Given the description of an element on the screen output the (x, y) to click on. 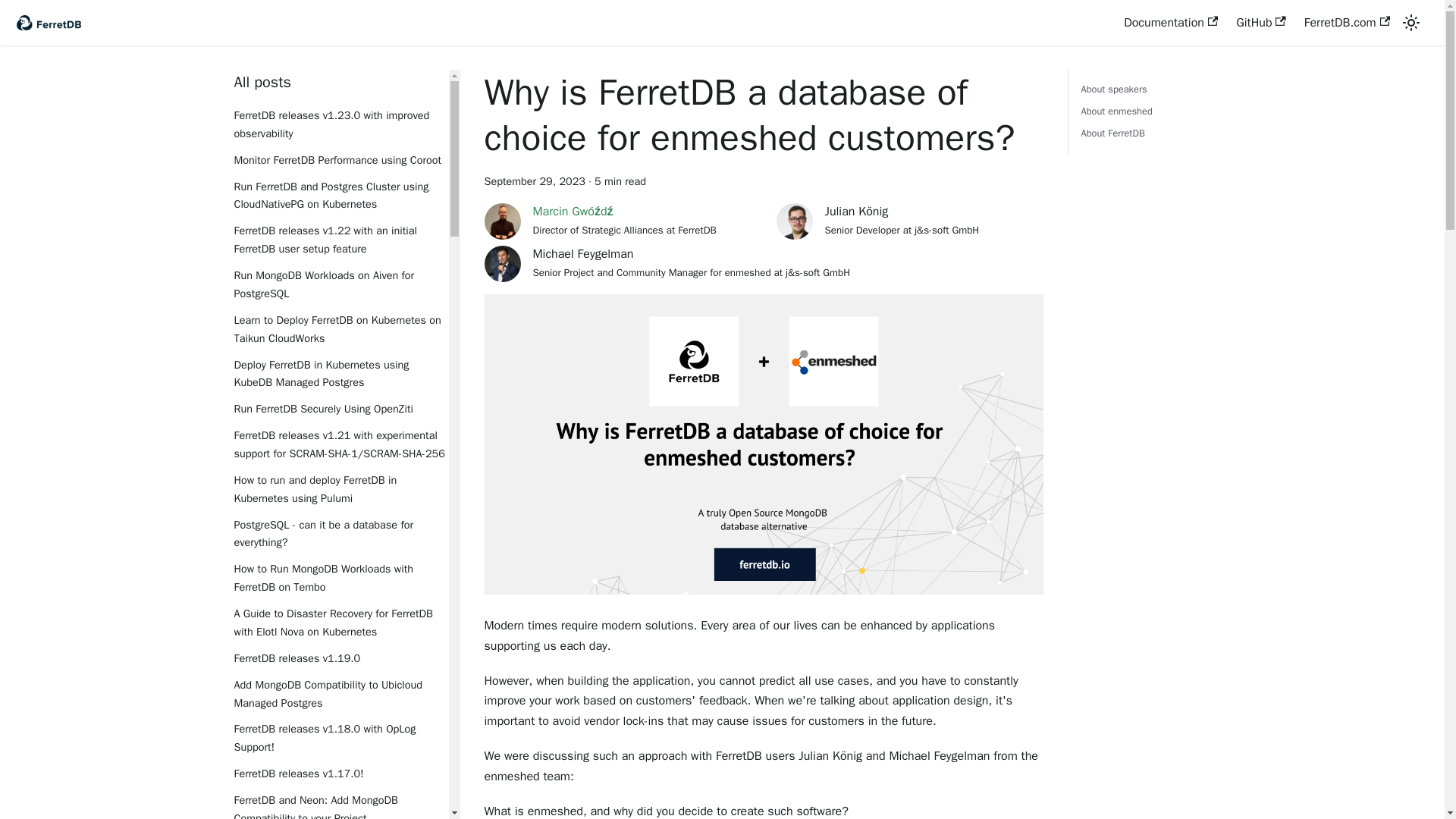
Add MongoDB Compatibility to Ubicloud Managed Postgres (340, 694)
How to run and deploy FerretDB in Kubernetes using Pulumi (340, 489)
FerretDB and Neon: Add MongoDB Compatibility to your Project (340, 805)
Documentation (1171, 22)
FerretDB releases v1.18.0 with OpLog Support! (340, 738)
FerretDB releases v1.19.0 (340, 659)
GitHub (1261, 22)
Learn to Deploy FerretDB on Kubernetes on Taikun CloudWorks (340, 330)
How to Run MongoDB Workloads with FerretDB on Tembo (340, 578)
Deploy FerretDB in Kubernetes using KubeDB Managed Postgres (340, 374)
Run MongoDB Workloads on Aiven for PostgreSQL (1138, 111)
Monitor FerretDB Performance using Coroot (340, 284)
